Given the description of an element on the screen output the (x, y) to click on. 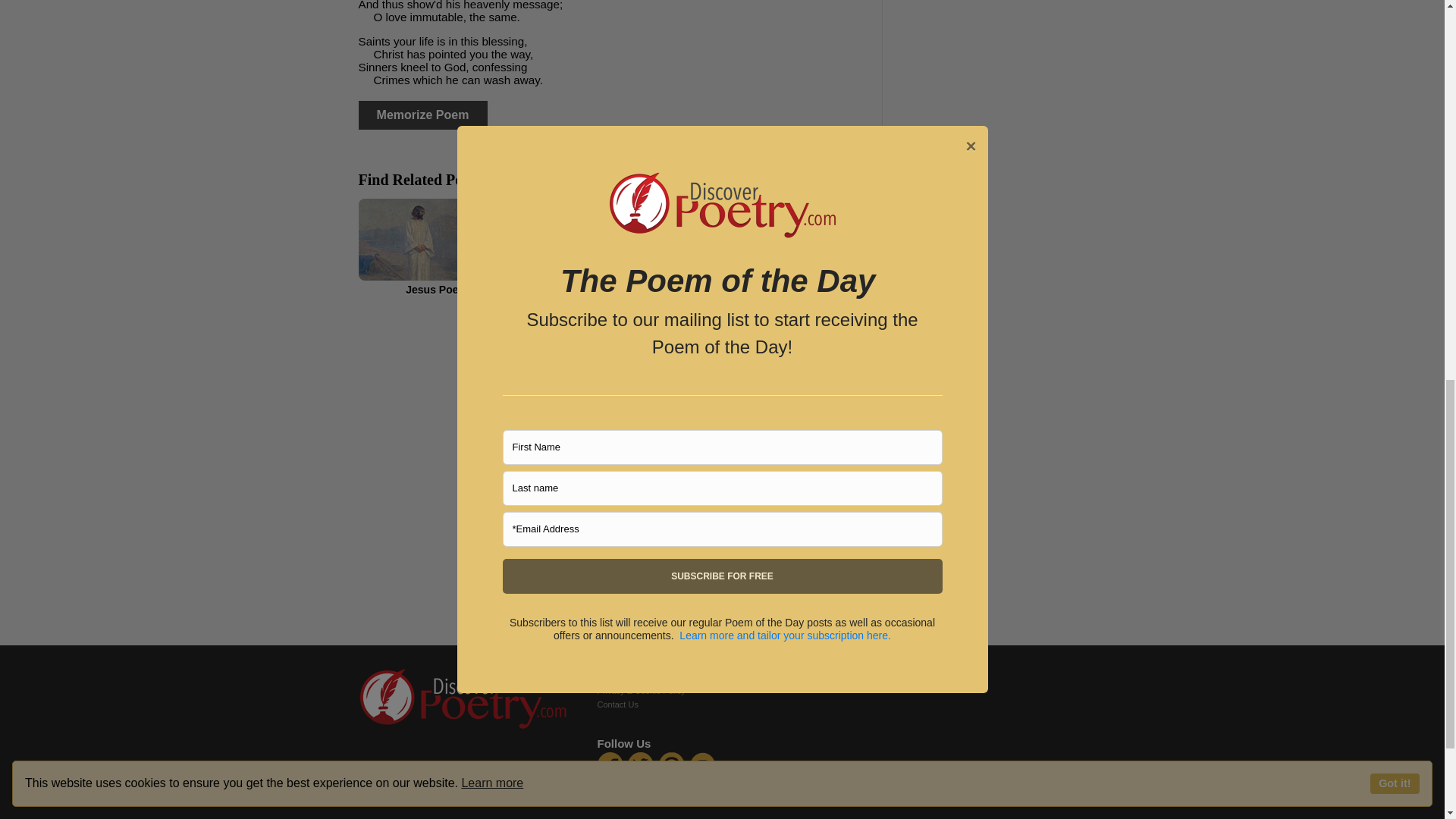
Poems About Sacrifice (785, 247)
Jesus Poems (439, 247)
Poems About the Cross (613, 247)
Contact Us (617, 704)
